Given the description of an element on the screen output the (x, y) to click on. 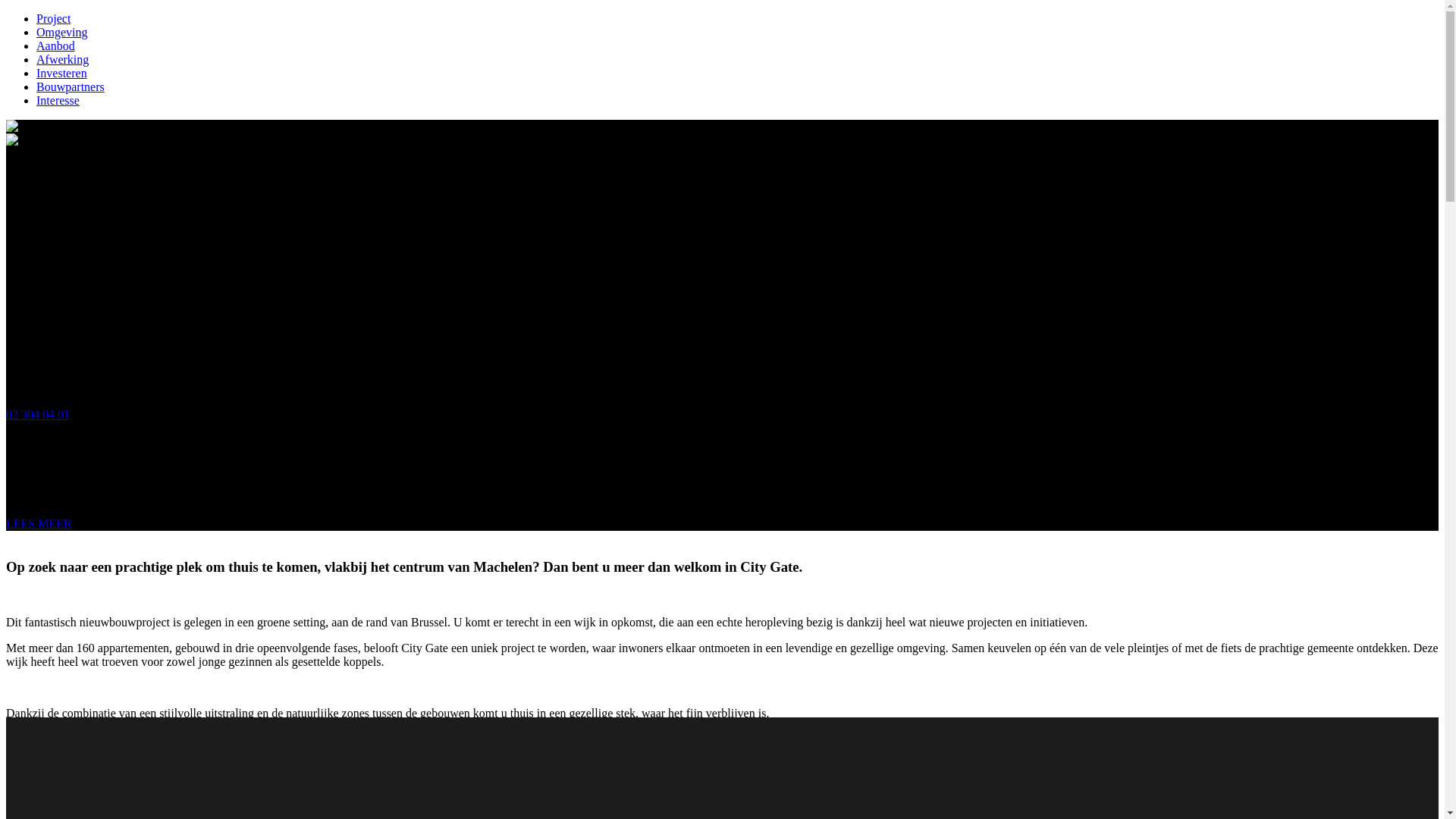
Bouwpartners Element type: text (70, 86)
Investeren Element type: text (61, 72)
LEES MEER Element type: text (39, 523)
Aanbod Element type: text (55, 45)
Interesse Element type: text (57, 100)
Afwerking Element type: text (62, 59)
Project Element type: text (53, 18)
02 304 04 01 Element type: text (37, 413)
Omgeving Element type: text (61, 31)
